Given the description of an element on the screen output the (x, y) to click on. 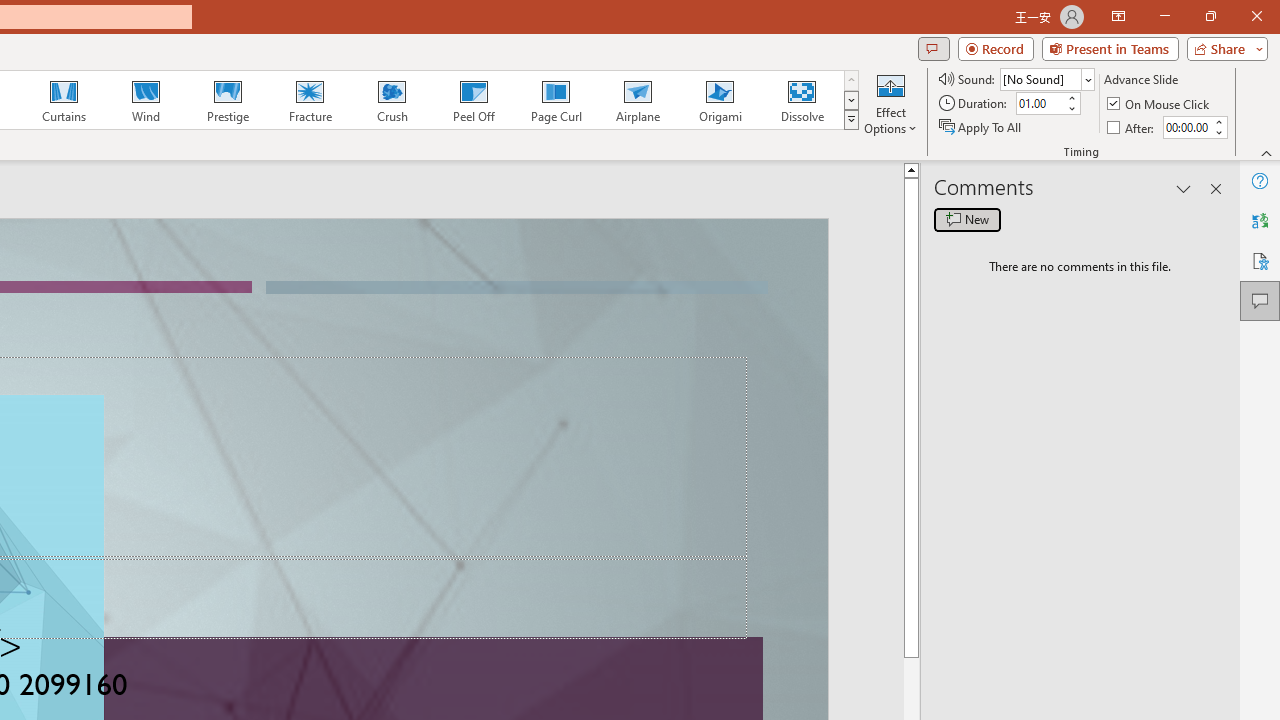
Transition Effects (850, 120)
Duration (1039, 103)
Dissolve (802, 100)
Prestige (227, 100)
After (1131, 126)
